Given the description of an element on the screen output the (x, y) to click on. 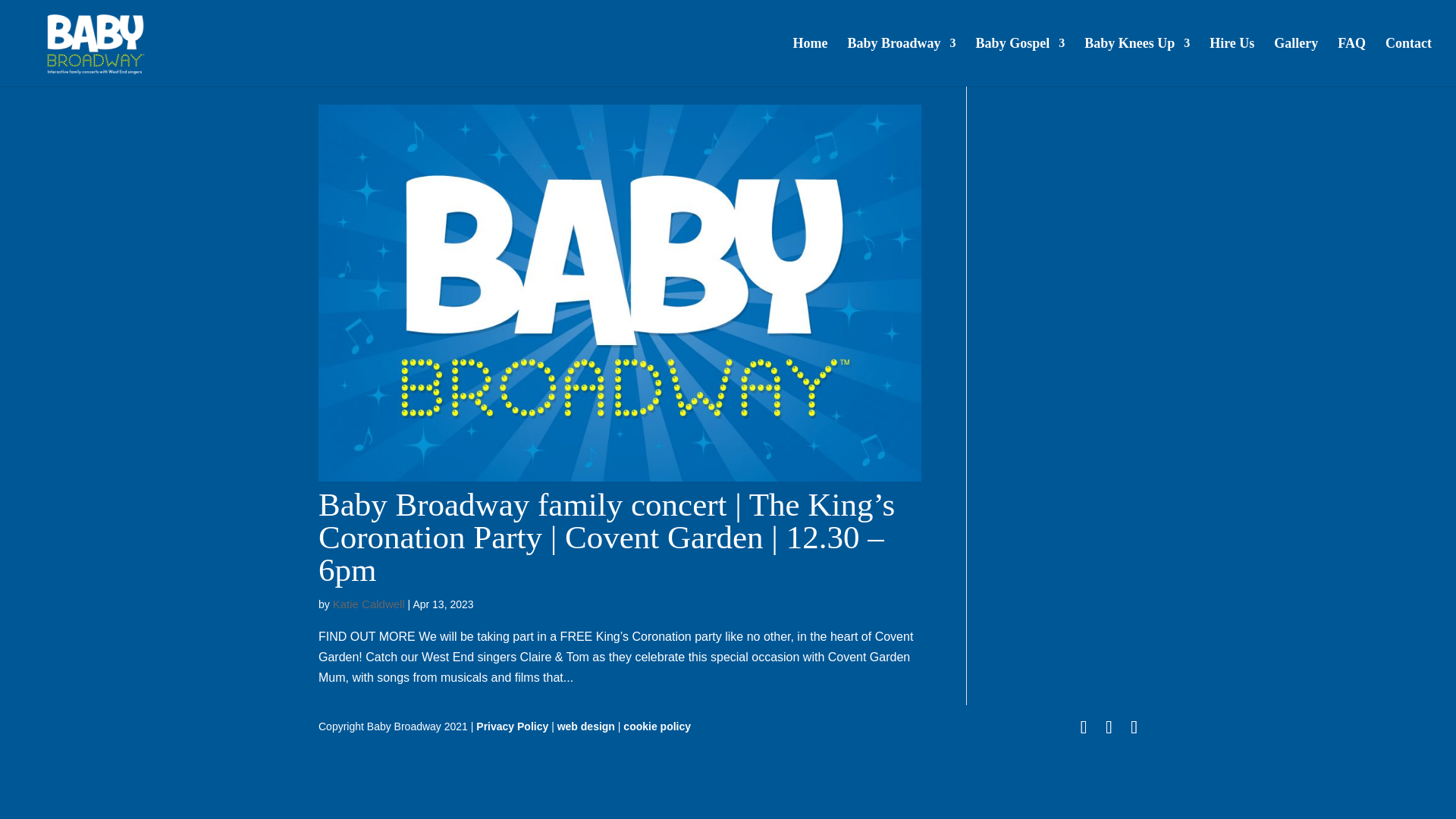
Katie Caldwell (368, 603)
Contact (1408, 61)
web design (585, 726)
Baby Broadway (901, 61)
Posts by Katie Caldwell (368, 603)
Gallery (1295, 61)
Baby Gospel (1020, 61)
cookie policy (656, 726)
Baby Knees Up (1136, 61)
Privacy Policy (512, 726)
